Given the description of an element on the screen output the (x, y) to click on. 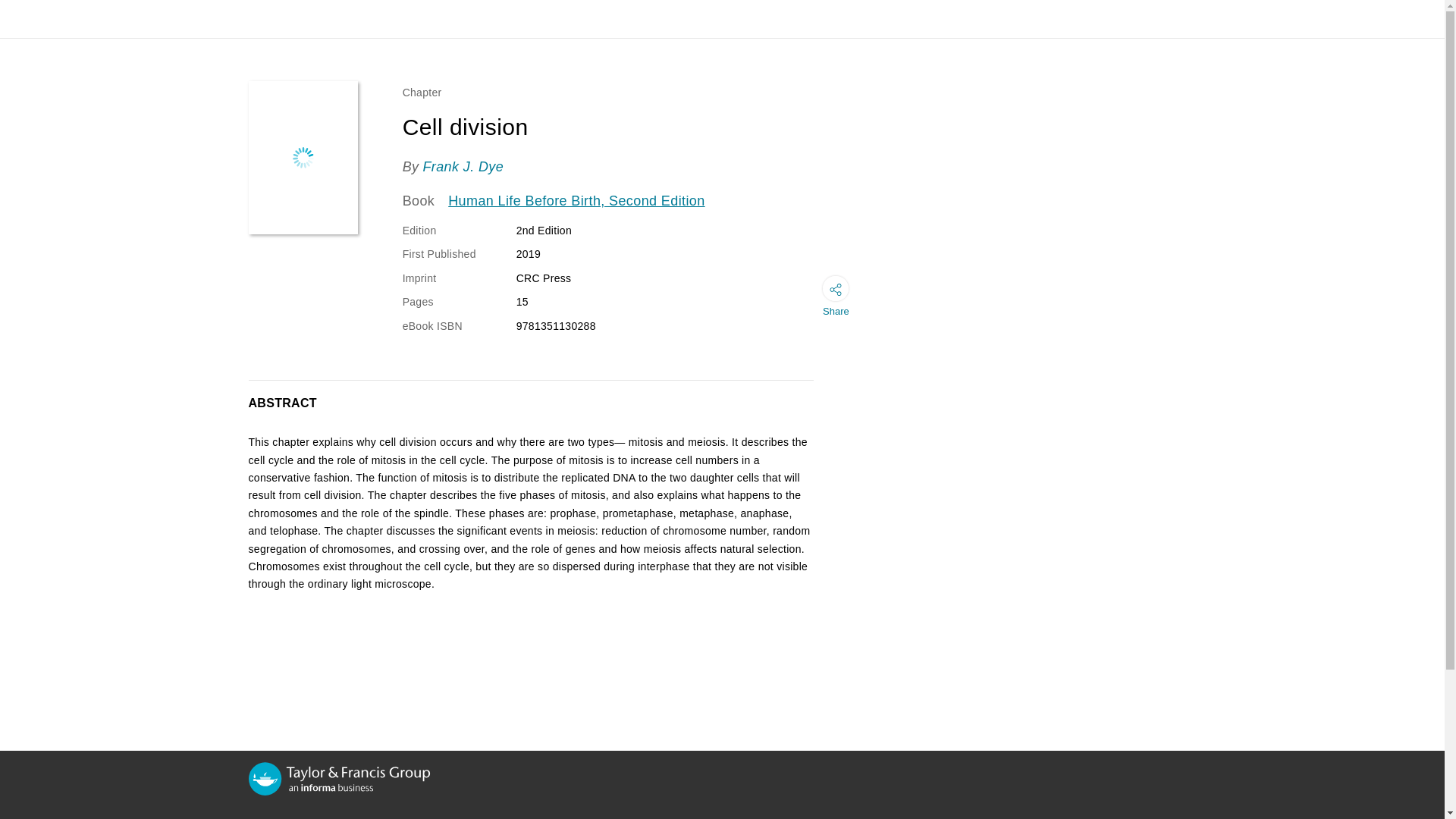
Share (835, 299)
Frank J. Dye (462, 166)
Human Life Before Birth, Second Edition (576, 201)
Cell division (303, 157)
